Given the description of an element on the screen output the (x, y) to click on. 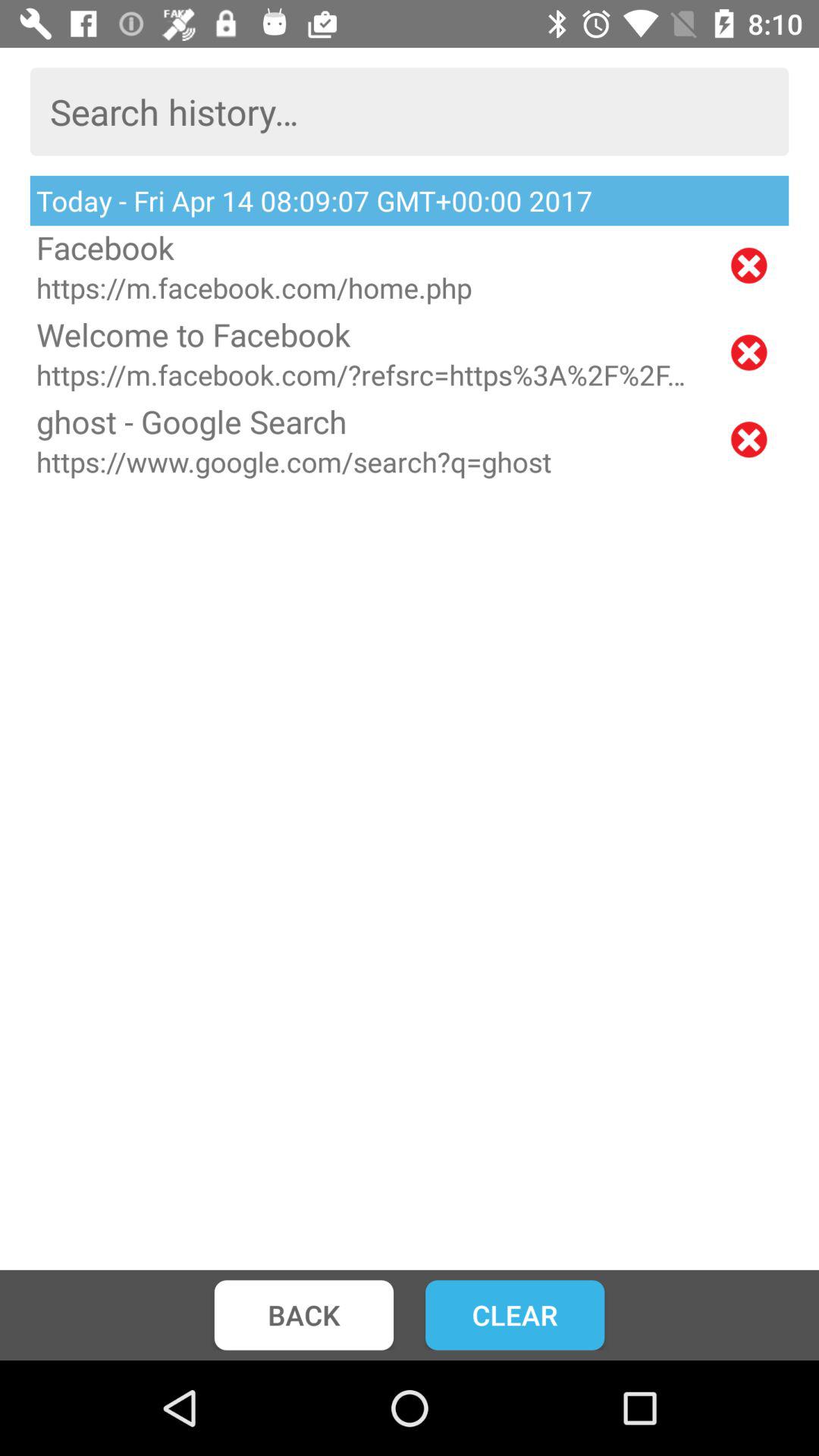
erase item (748, 352)
